Given the description of an element on the screen output the (x, y) to click on. 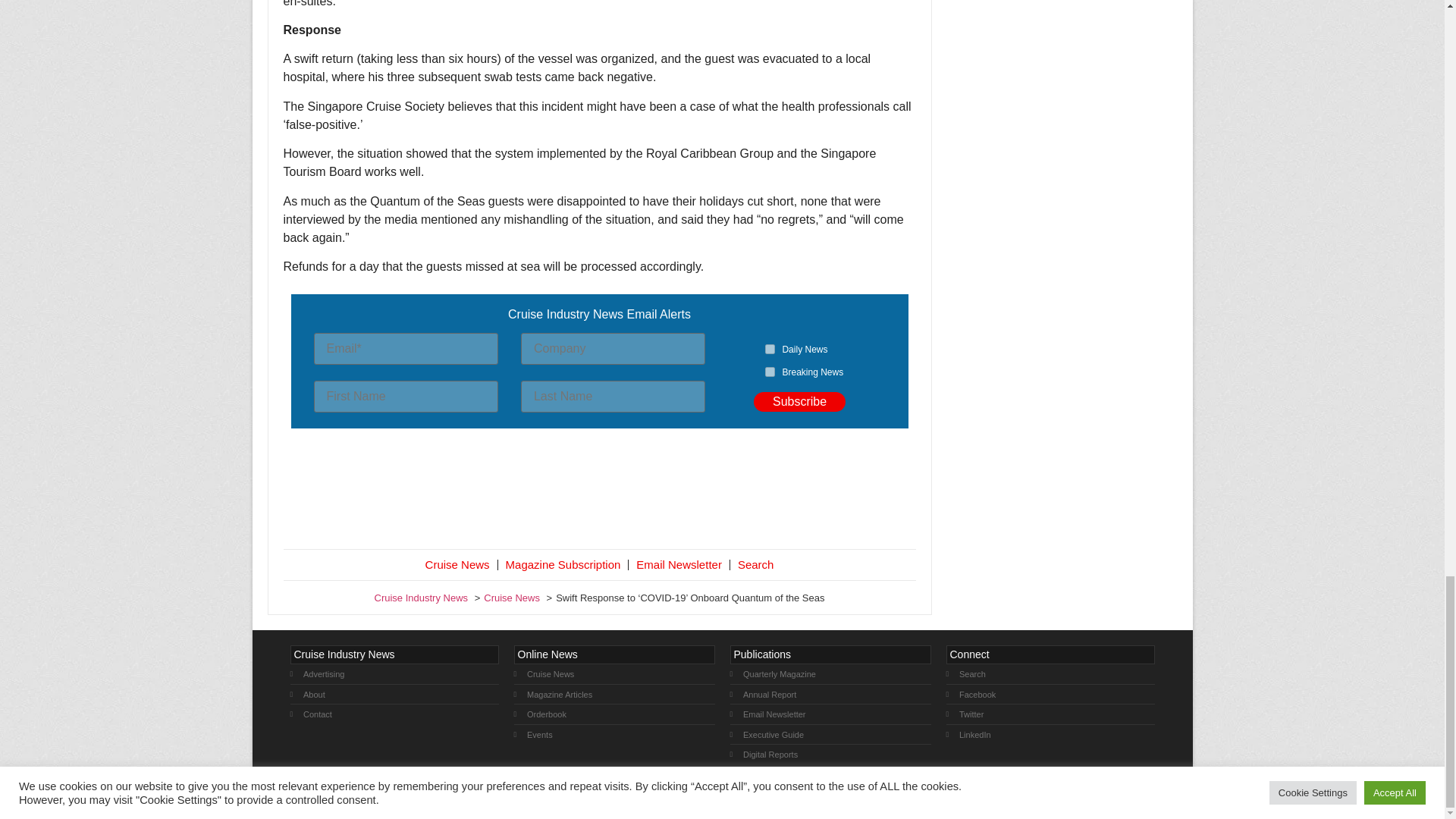
1 (769, 348)
2 (769, 371)
3rd party ad content (599, 491)
Subscribe (799, 401)
